Given the description of an element on the screen output the (x, y) to click on. 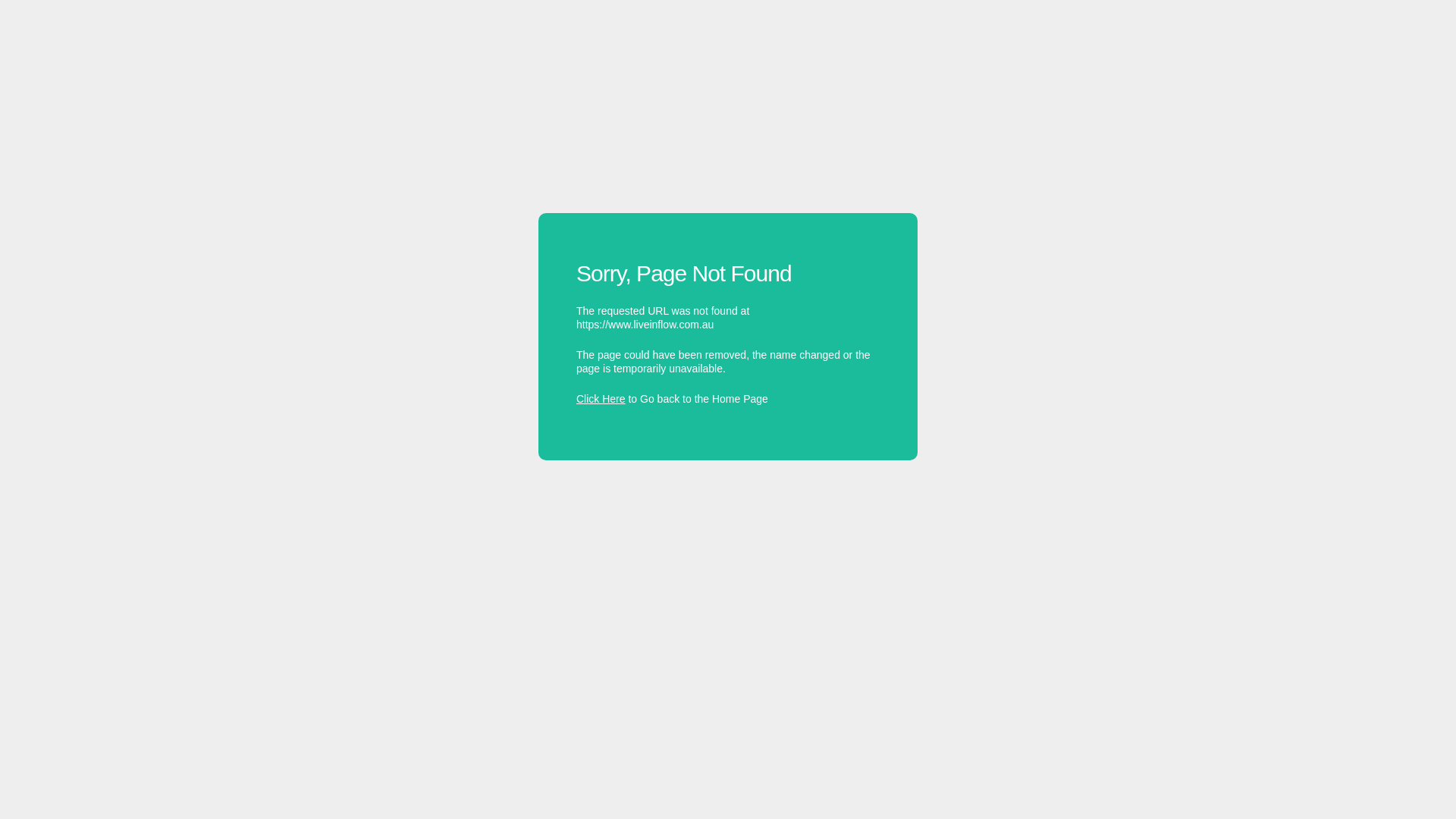
Click Here Element type: text (600, 398)
